Given the description of an element on the screen output the (x, y) to click on. 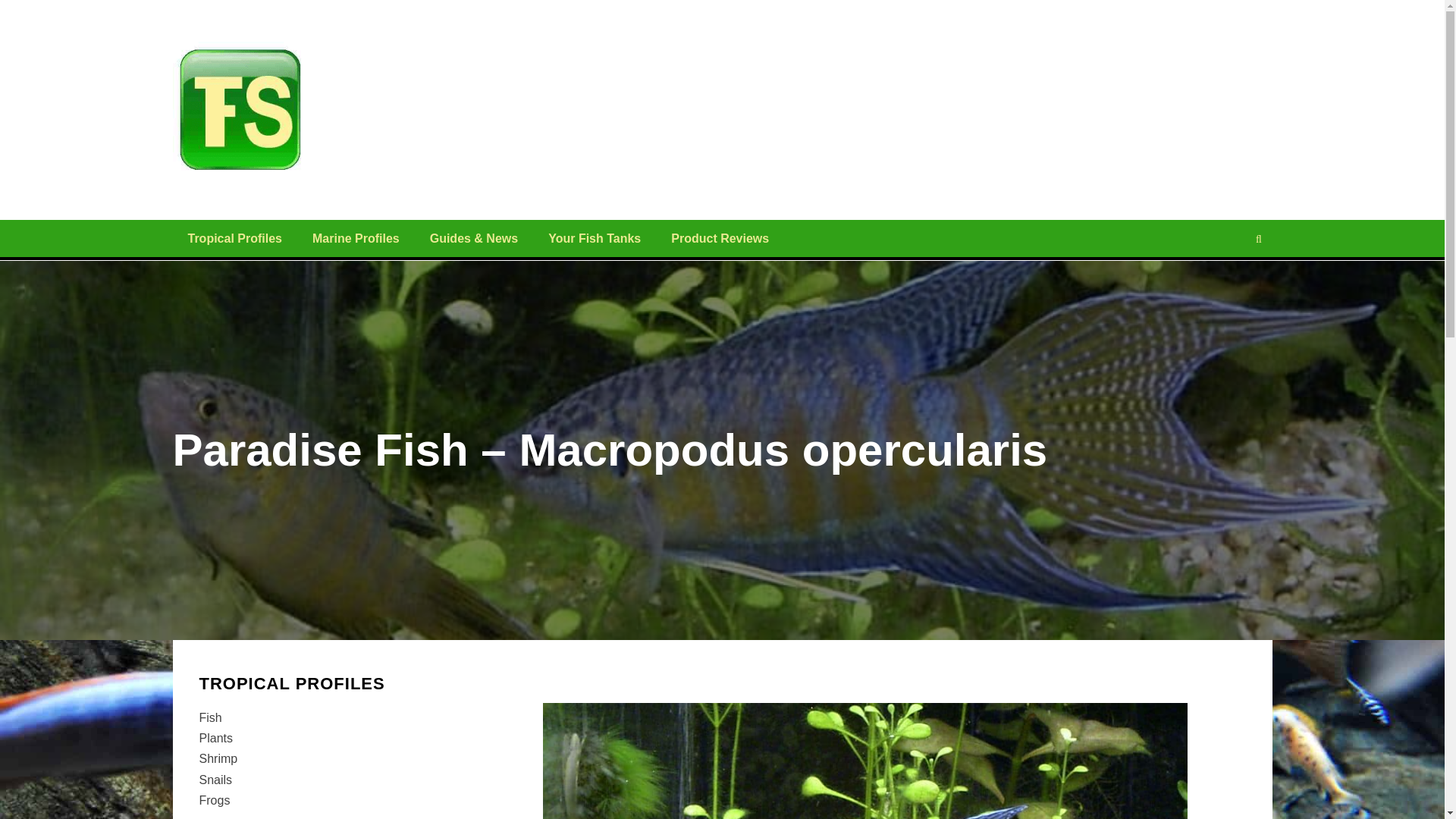
Shrimp (217, 758)
Fish (209, 717)
Your Fish Tanks (594, 237)
Plants (214, 738)
Search (1229, 284)
Snails (214, 779)
Marine Profiles (355, 237)
Product Reviews (719, 237)
Tropical Profiles (234, 237)
Frogs (214, 799)
